Given the description of an element on the screen output the (x, y) to click on. 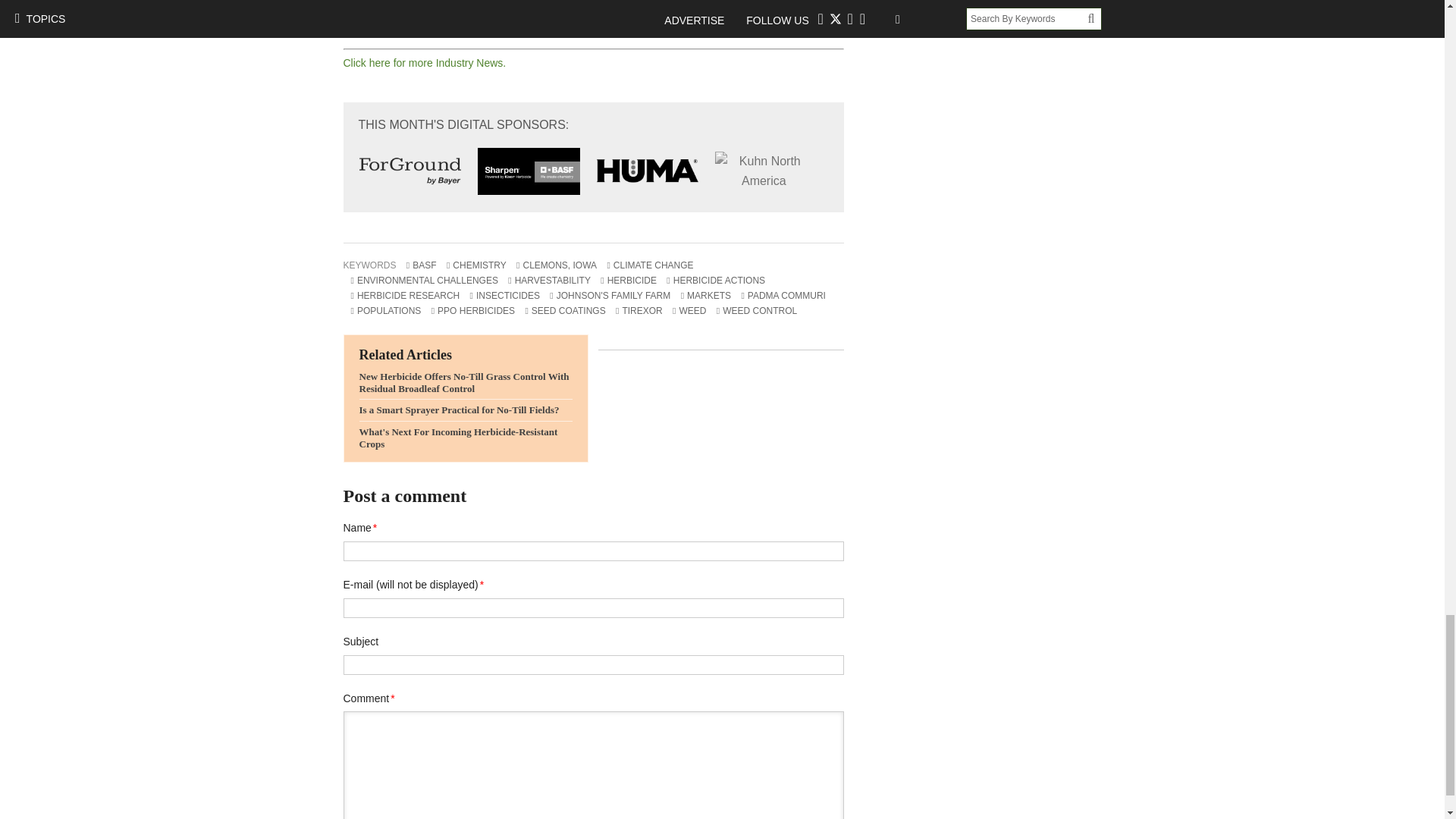
Kuhn North America (763, 171)
Huma (647, 171)
ForGround by Bayer (410, 171)
